Given the description of an element on the screen output the (x, y) to click on. 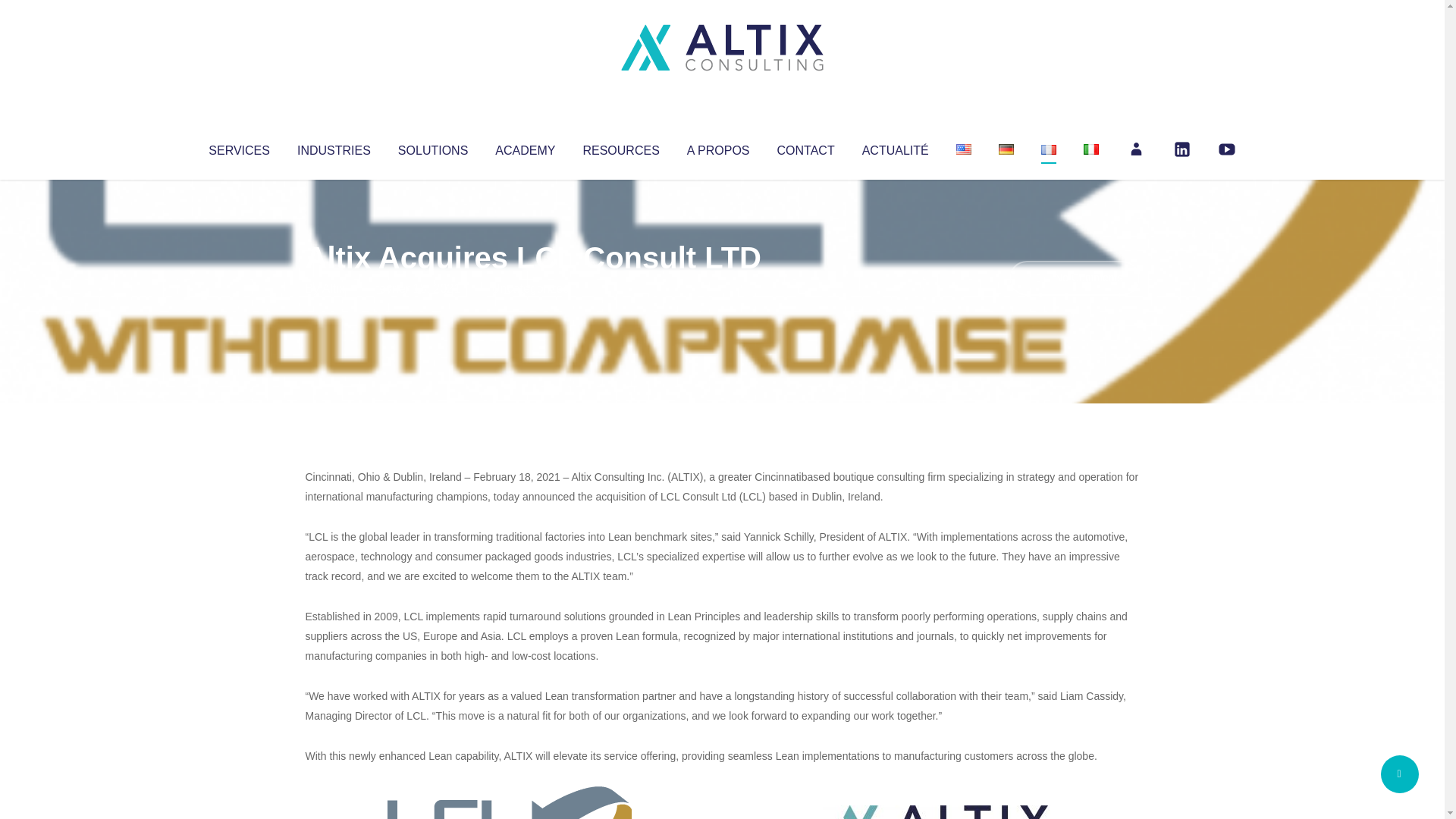
ACADEMY (524, 146)
Altix (333, 287)
SERVICES (238, 146)
A PROPOS (718, 146)
RESOURCES (620, 146)
No Comments (1073, 278)
SOLUTIONS (432, 146)
Articles par Altix (333, 287)
INDUSTRIES (334, 146)
Uncategorized (530, 287)
